Given the description of an element on the screen output the (x, y) to click on. 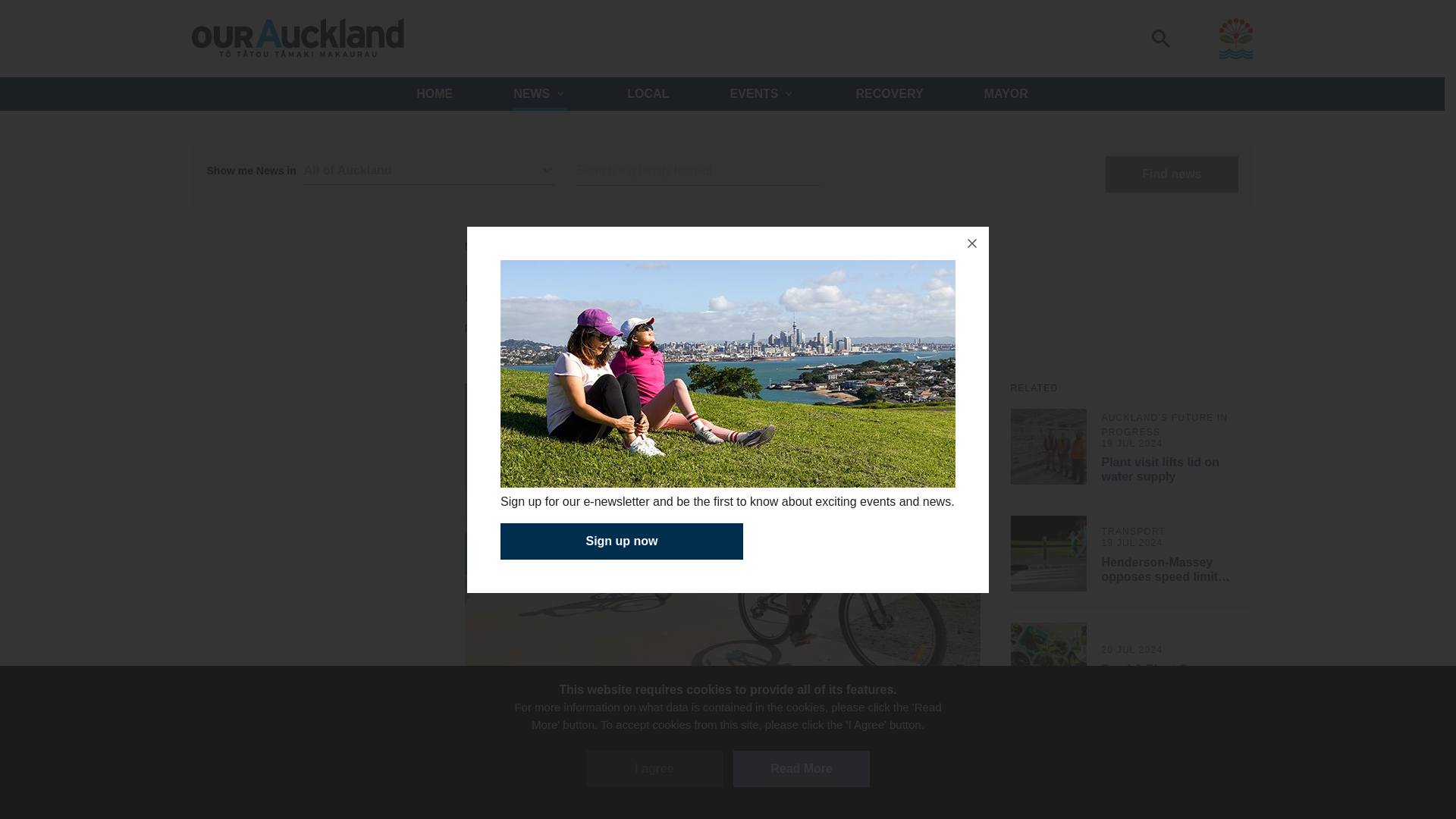
MANUKAU WARD (651, 344)
LOCAL (647, 93)
NEWS (539, 93)
HOME (434, 93)
NEWS (480, 245)
Toggle search (1160, 38)
EVENTS (761, 93)
CYCLING (632, 327)
Search (697, 170)
WALKWAYS (872, 327)
Find news (1171, 174)
MAYOR (1005, 93)
RECOVERY (889, 93)
Close (971, 242)
TRANSPORT (803, 327)
